Given the description of an element on the screen output the (x, y) to click on. 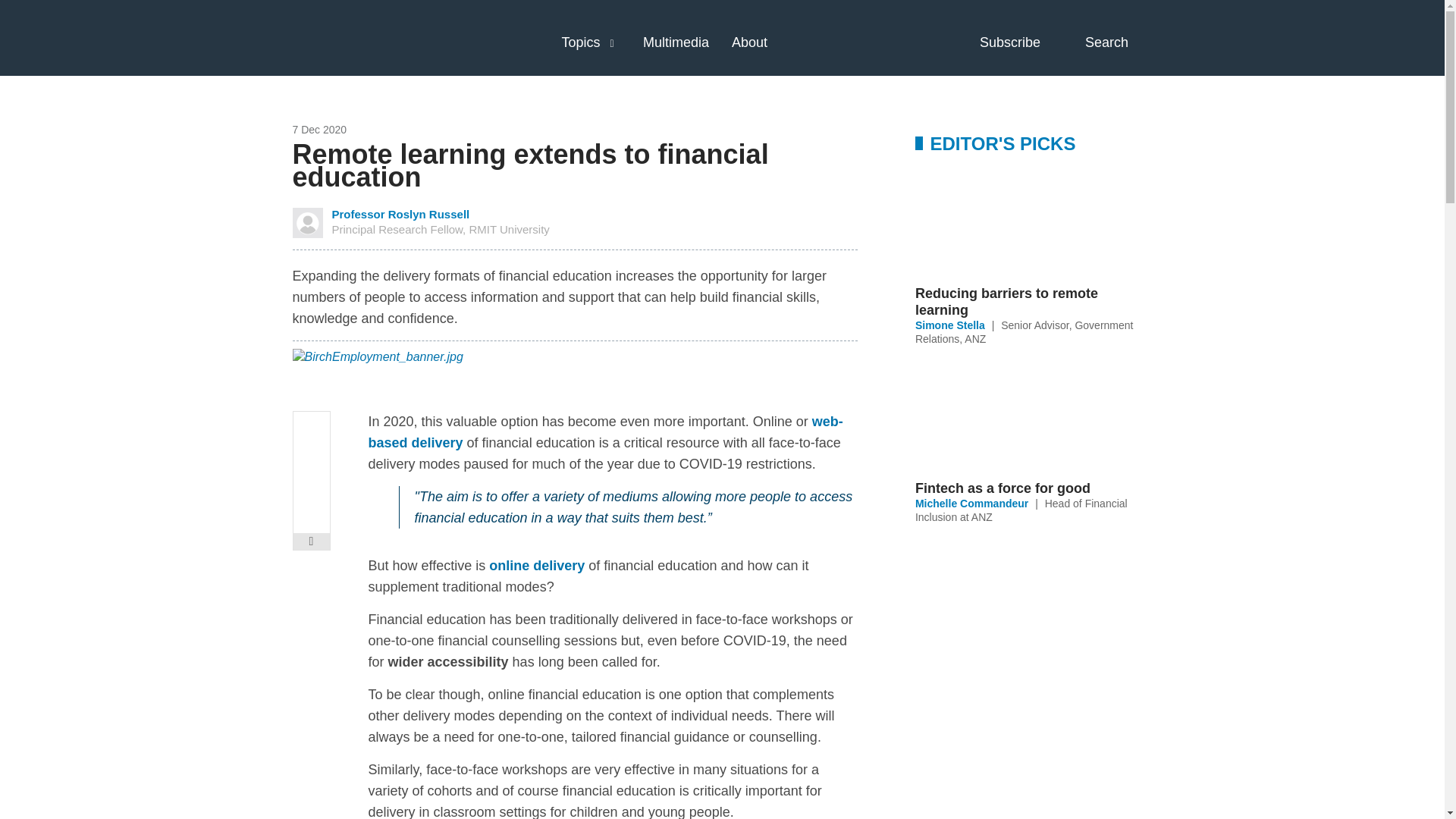
Topics (579, 42)
Search (1118, 42)
Subscribe (1023, 42)
Fintech as a force for good (1033, 487)
Senior Advisor, Government Relations, ANZ (1024, 331)
Multimedia (676, 42)
About (749, 42)
Head of Financial Inclusion at ANZ (1020, 510)
Reducing barriers to remote learning (1033, 301)
